Given the description of an element on the screen output the (x, y) to click on. 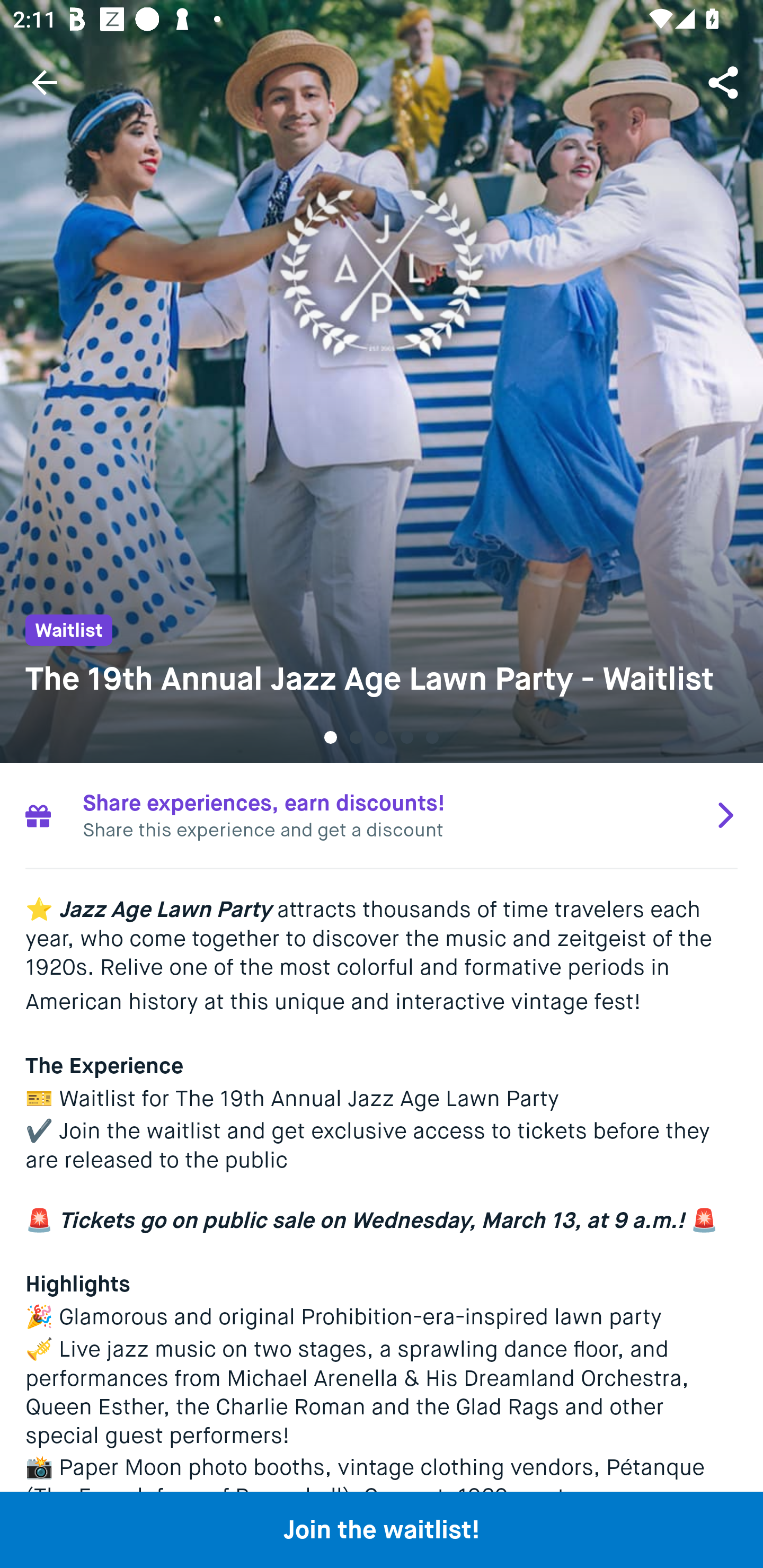
Navigate up (44, 82)
Share (724, 81)
Join the waitlist! (381, 1529)
